Given the description of an element on the screen output the (x, y) to click on. 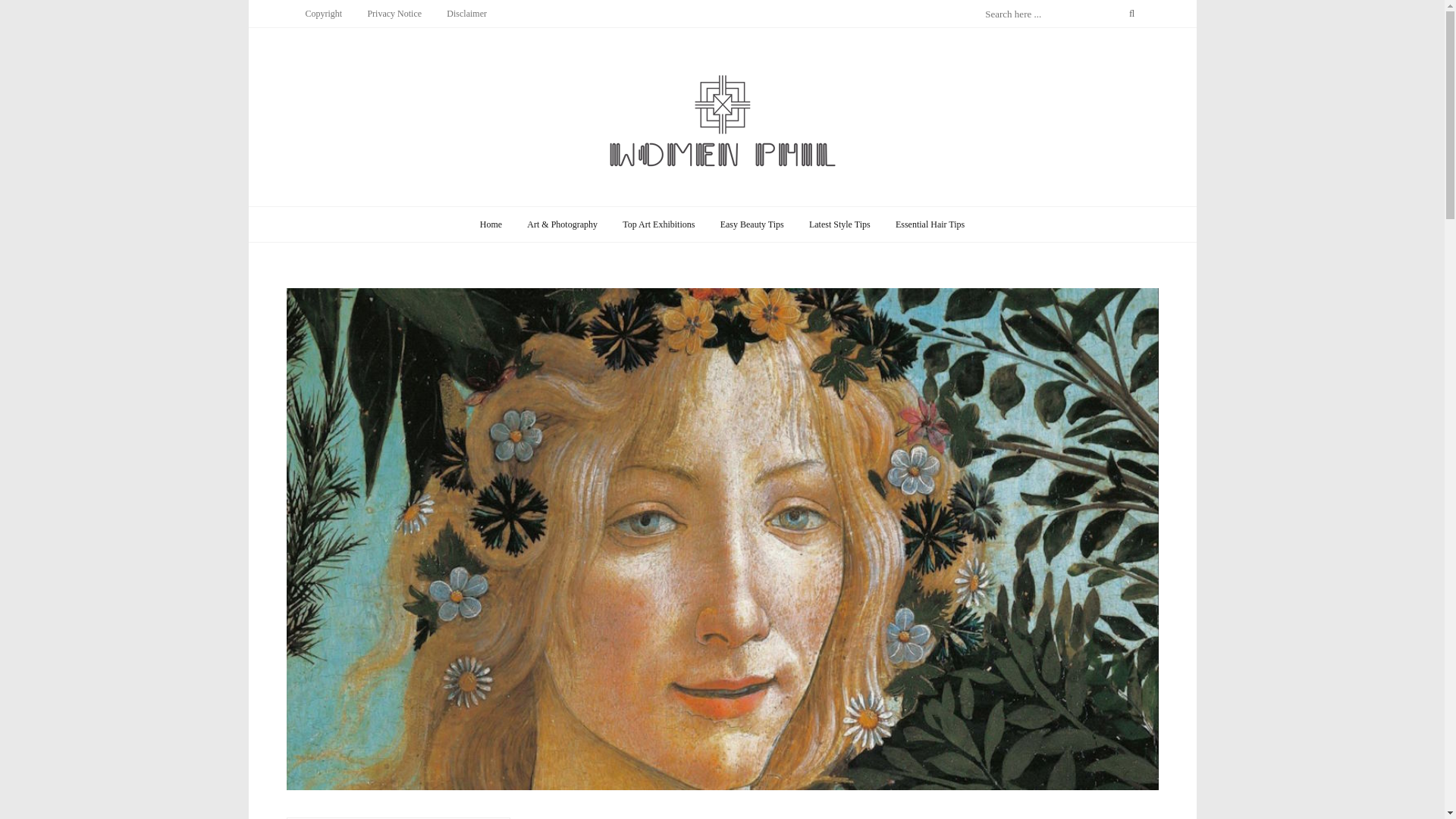
Latest Style Tips (839, 224)
Essential Hair Tips (929, 224)
Privacy Notice (394, 13)
Disclaimer (466, 13)
Easy Beauty Tips (752, 224)
Copyright (323, 13)
Top Art Exhibitions (658, 224)
Home (491, 224)
